Given the description of an element on the screen output the (x, y) to click on. 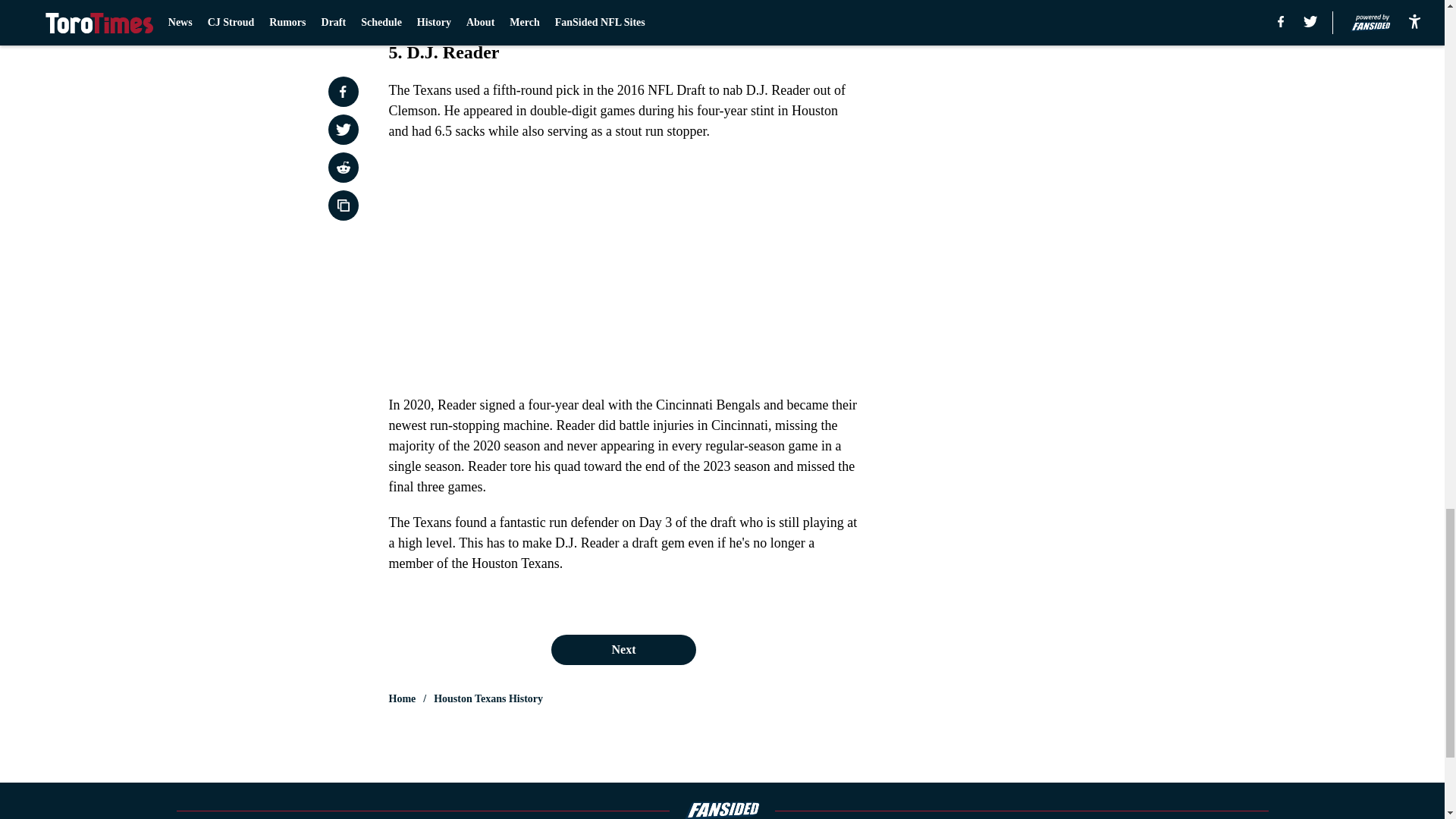
Next (622, 649)
Home (401, 698)
Houston Texans History (488, 698)
